Given the description of an element on the screen output the (x, y) to click on. 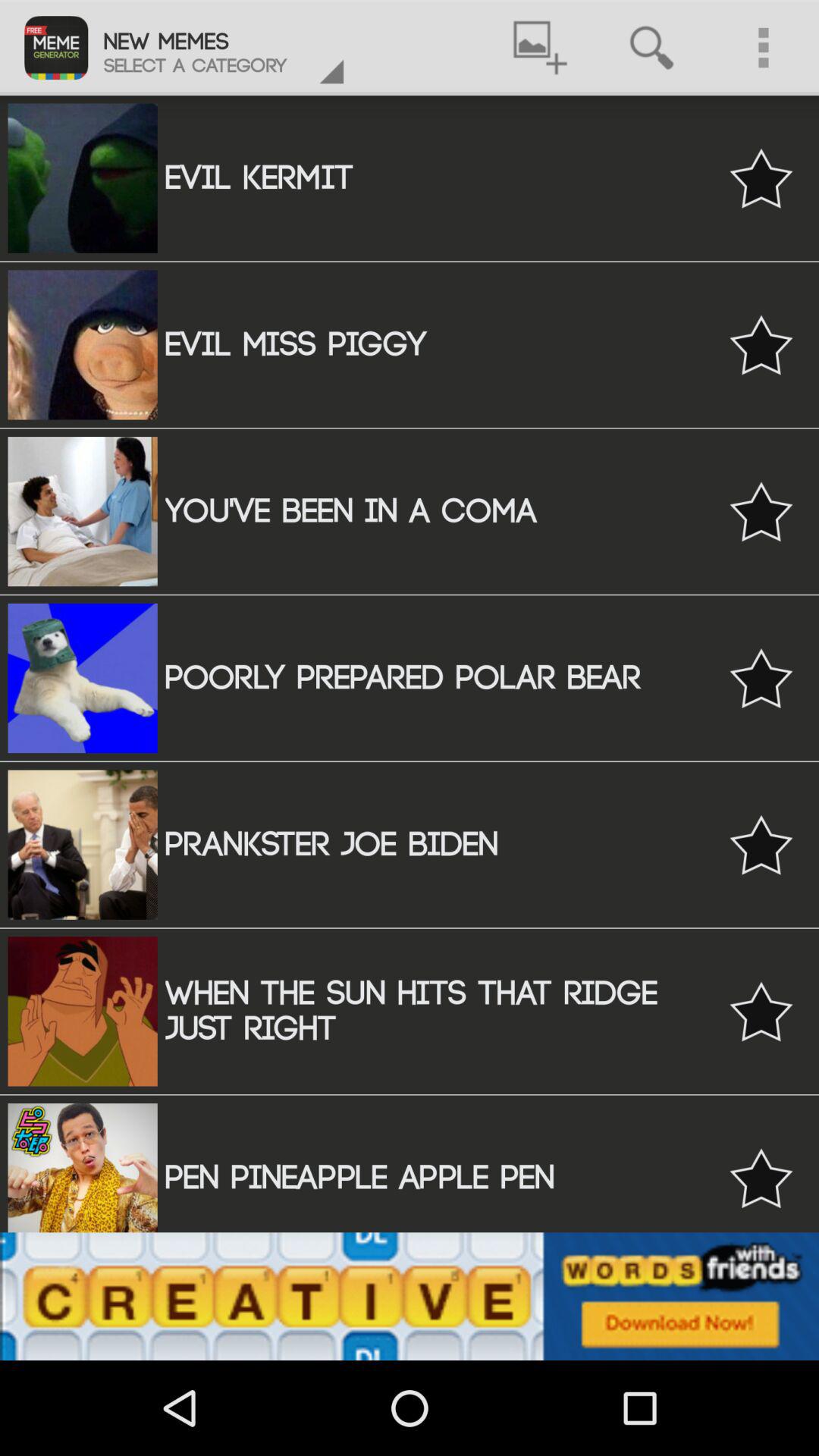
add to favourite (761, 344)
